Given the description of an element on the screen output the (x, y) to click on. 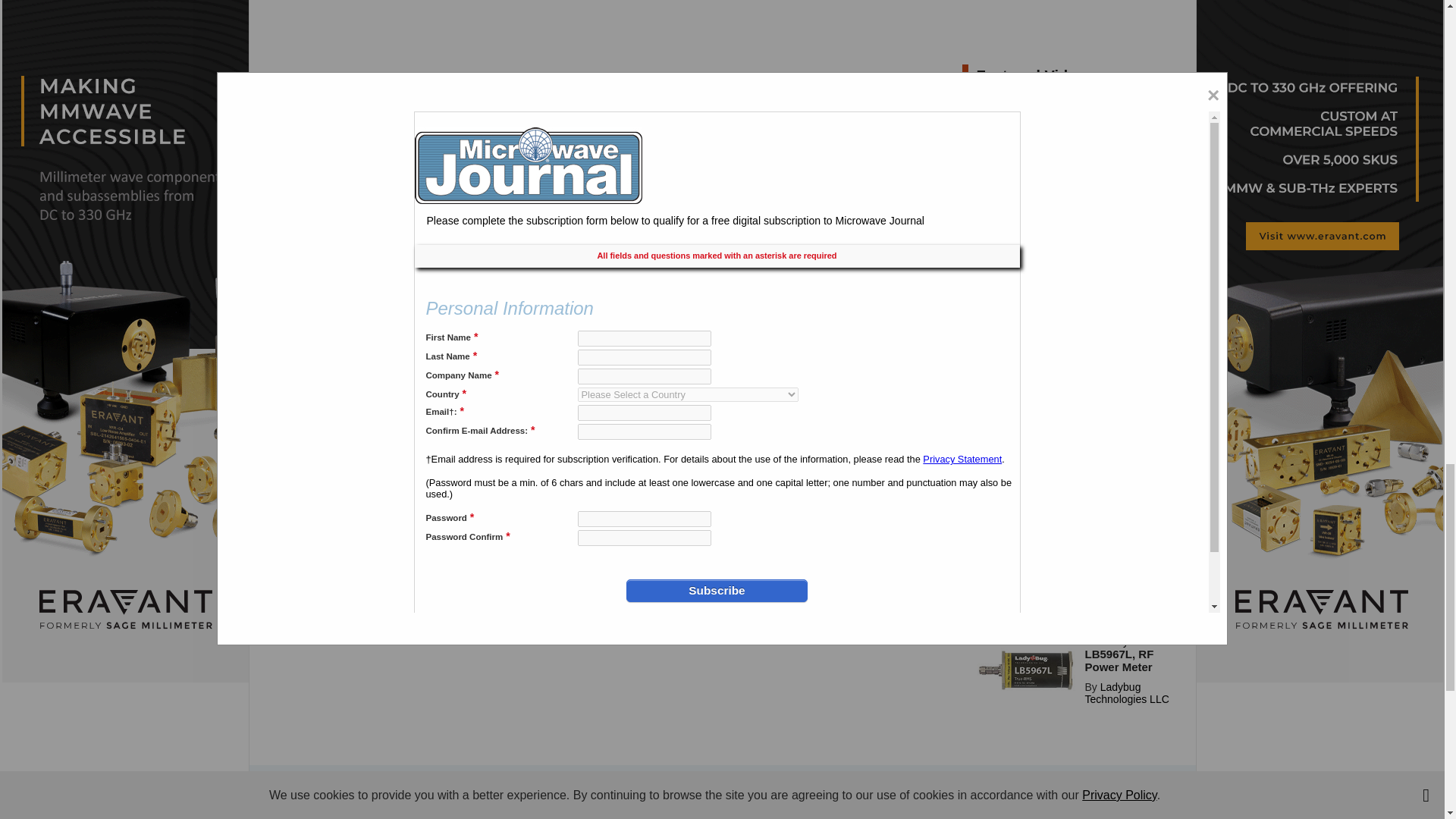
3rd party ad content (1075, 24)
LB5967L-WBG.jpg (1025, 669)
3rd party ad content (721, 801)
pasternack-7-11-24wjt.jpg (1025, 498)
NOFFZ HDS-HSD 1008 front.jpg (1025, 589)
